Given the description of an element on the screen output the (x, y) to click on. 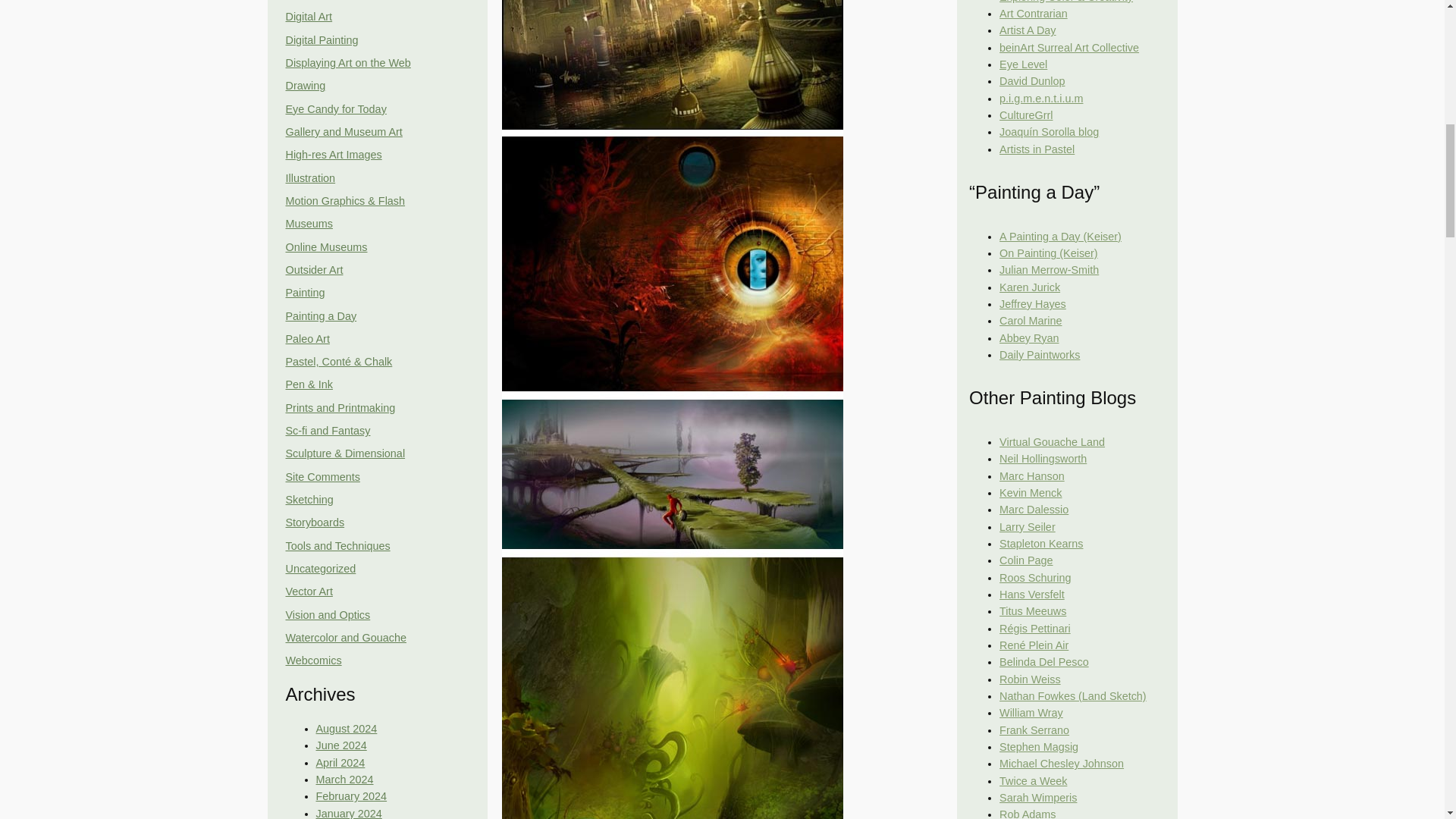
Museums (308, 223)
Eye Candy for Today (335, 109)
Digital Painting (321, 39)
Sketching (309, 499)
Storyboards (314, 522)
Illustration (309, 177)
Site Comments (322, 476)
Gallery and Museum Art (343, 132)
Digital Art (308, 16)
Prints and Printmaking (339, 408)
